Given the description of an element on the screen output the (x, y) to click on. 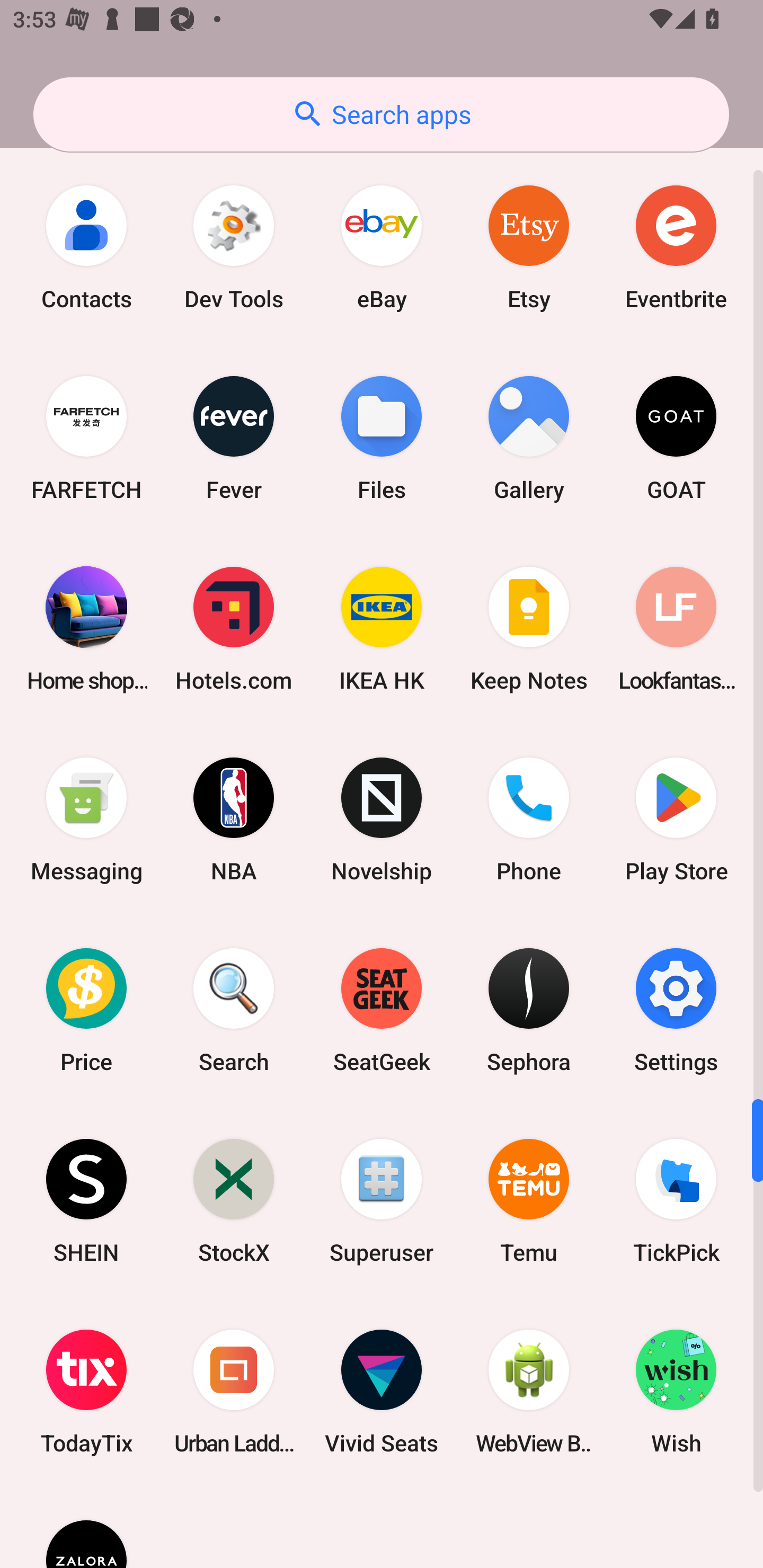
  Search apps (381, 114)
Contacts (86, 247)
Dev Tools (233, 247)
eBay (381, 247)
Etsy (528, 247)
Eventbrite (676, 247)
FARFETCH (86, 438)
Fever (233, 438)
Files (381, 438)
Gallery (528, 438)
GOAT (676, 438)
Home shopping (86, 628)
Hotels.com (233, 628)
IKEA HK (381, 628)
Keep Notes (528, 628)
Lookfantastic (676, 628)
Messaging (86, 819)
NBA (233, 819)
Novelship (381, 819)
Phone (528, 819)
Play Store (676, 819)
Price (86, 1009)
Search (233, 1009)
SeatGeek (381, 1009)
Sephora (528, 1009)
Settings (676, 1009)
SHEIN (86, 1200)
StockX (233, 1200)
Superuser (381, 1200)
Temu (528, 1200)
TickPick (676, 1200)
TodayTix (86, 1391)
Urban Ladder (233, 1391)
Vivid Seats (381, 1391)
WebView Browser Tester (528, 1391)
Wish (676, 1391)
